Given the description of an element on the screen output the (x, y) to click on. 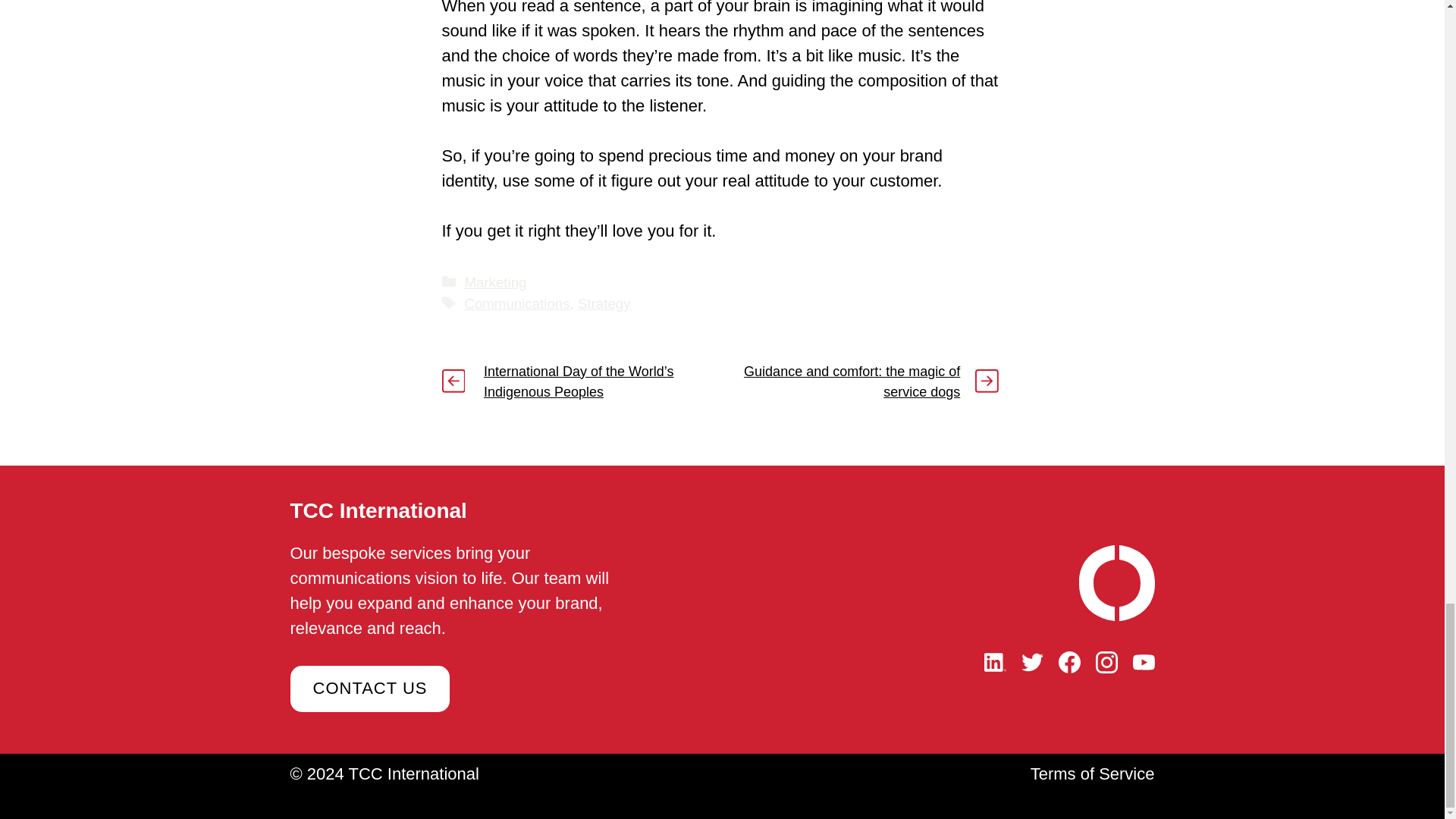
Terms of Service (1092, 773)
Strategy (604, 303)
Guidance and comfort: the magic of service dogs (851, 381)
CONTACT US (369, 688)
Marketing (494, 282)
Communications (516, 303)
